Given the description of an element on the screen output the (x, y) to click on. 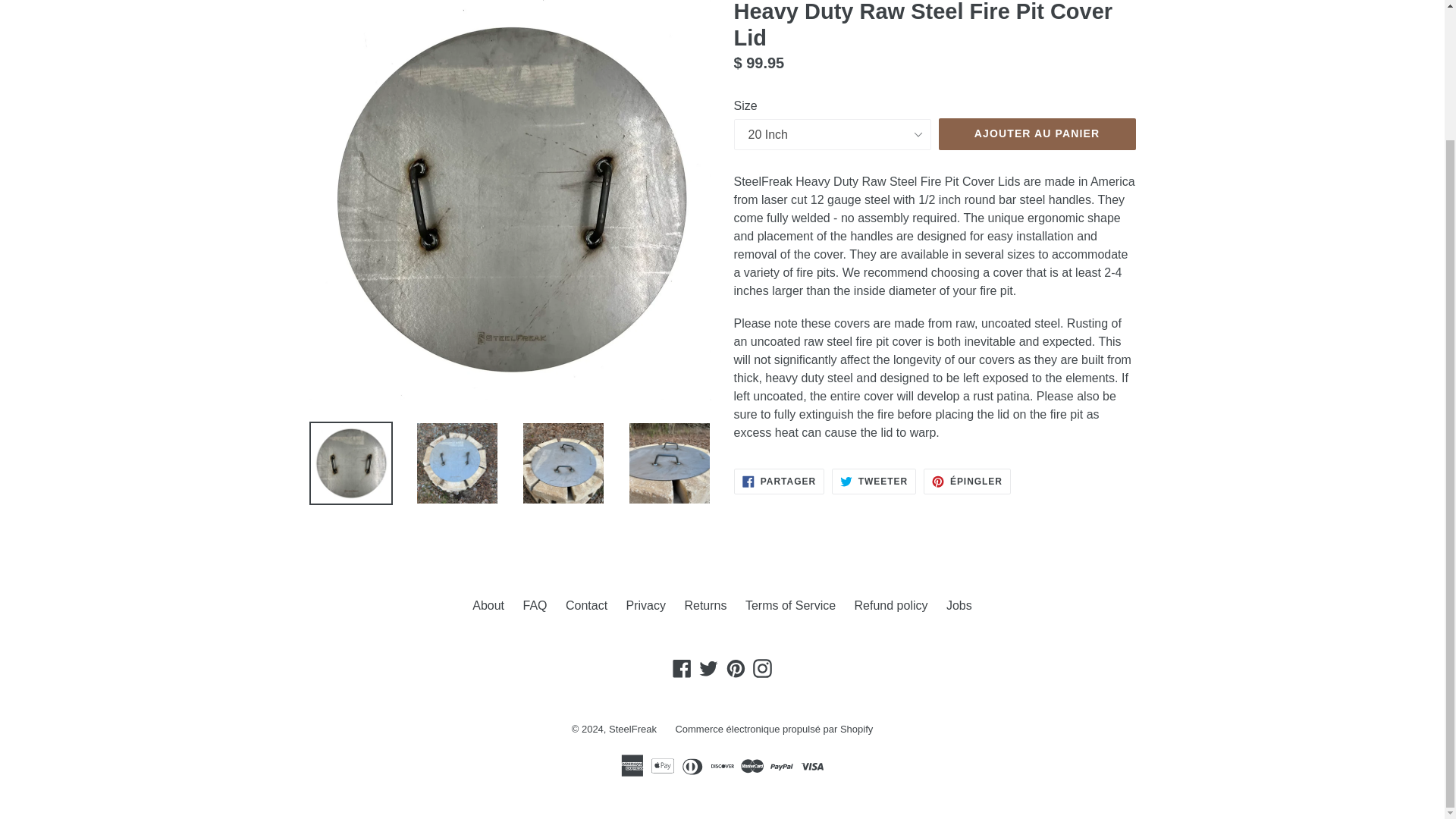
Tweeter sur Twitter (873, 481)
SteelFreak sur Facebook (681, 668)
Partager sur Facebook (779, 481)
SteelFreak sur Twitter (708, 668)
SteelFreak sur Instagram (762, 668)
SteelFreak sur Pinterest (735, 668)
